Given the description of an element on the screen output the (x, y) to click on. 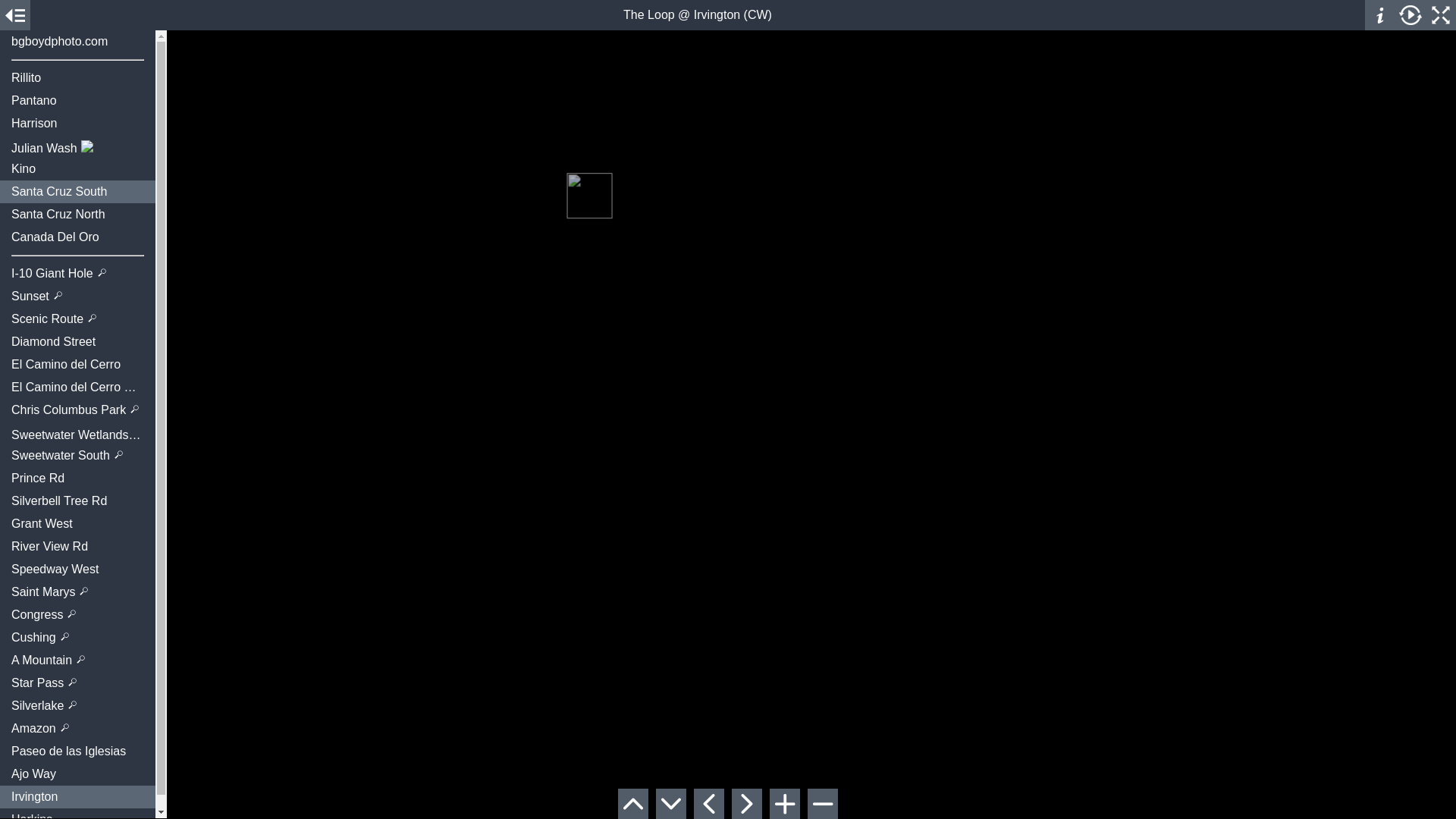
Ajo Way (77, 773)
Grant West (77, 523)
Speedway West (77, 568)
Sunset (77, 296)
Julian Wash (77, 146)
Kino (77, 169)
Sweetwater Wetlands (77, 432)
Irvington (77, 796)
Chris Columbus Park (77, 409)
Silverlake (77, 705)
bgboydphoto.com (77, 41)
A Mountain (77, 660)
El Camino del Cerro Park (77, 386)
Pantano (77, 100)
Scenic Route (77, 318)
